Given the description of an element on the screen output the (x, y) to click on. 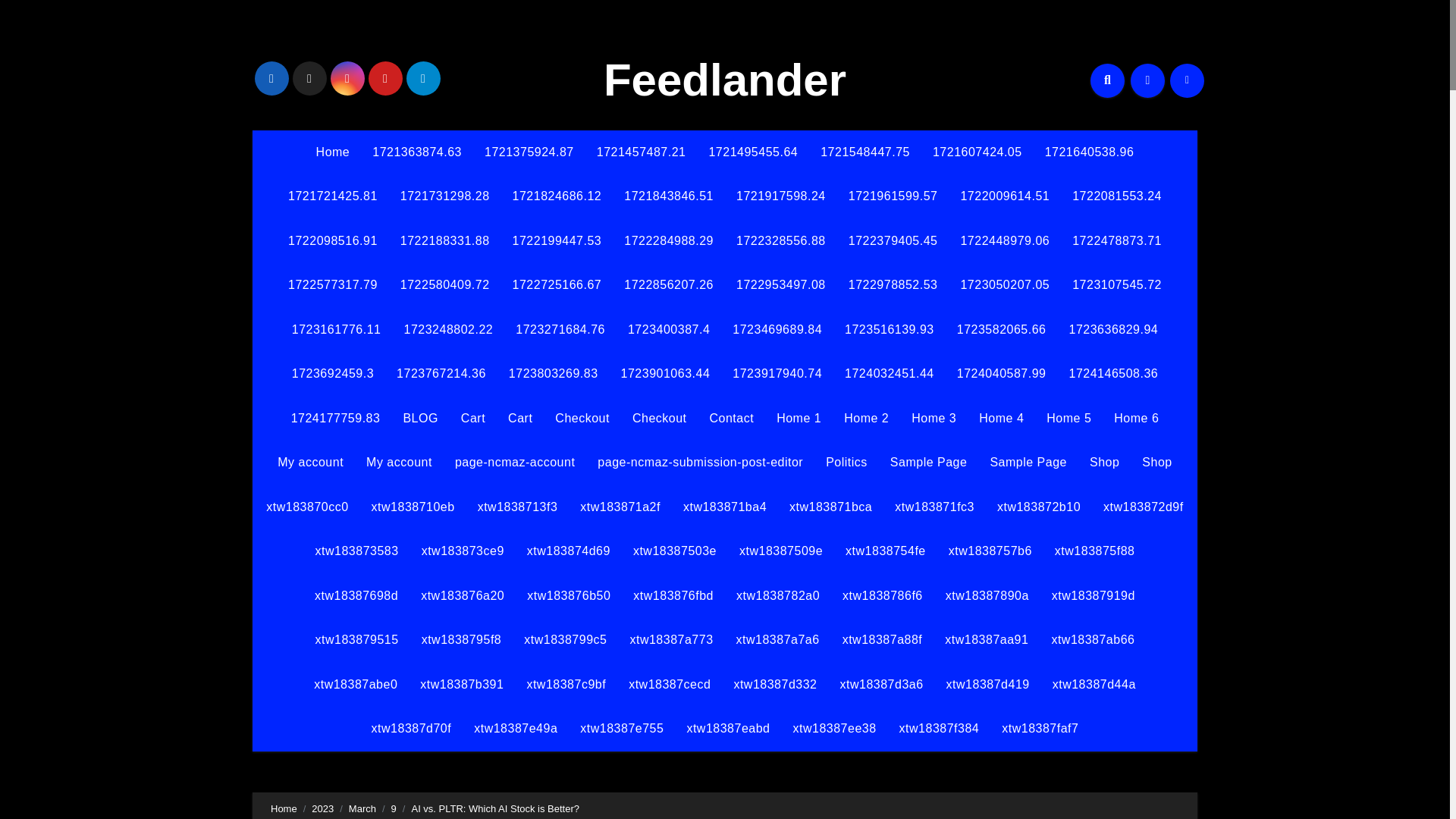
1722725166.67 (556, 284)
1721961599.57 (893, 196)
1722009614.51 (1005, 196)
1721363874.63 (417, 152)
1722199447.53 (556, 240)
1722284988.29 (668, 240)
1722328556.88 (781, 240)
1721457487.21 (641, 152)
1721607424.05 (977, 152)
1721917598.24 (781, 196)
